Given the description of an element on the screen output the (x, y) to click on. 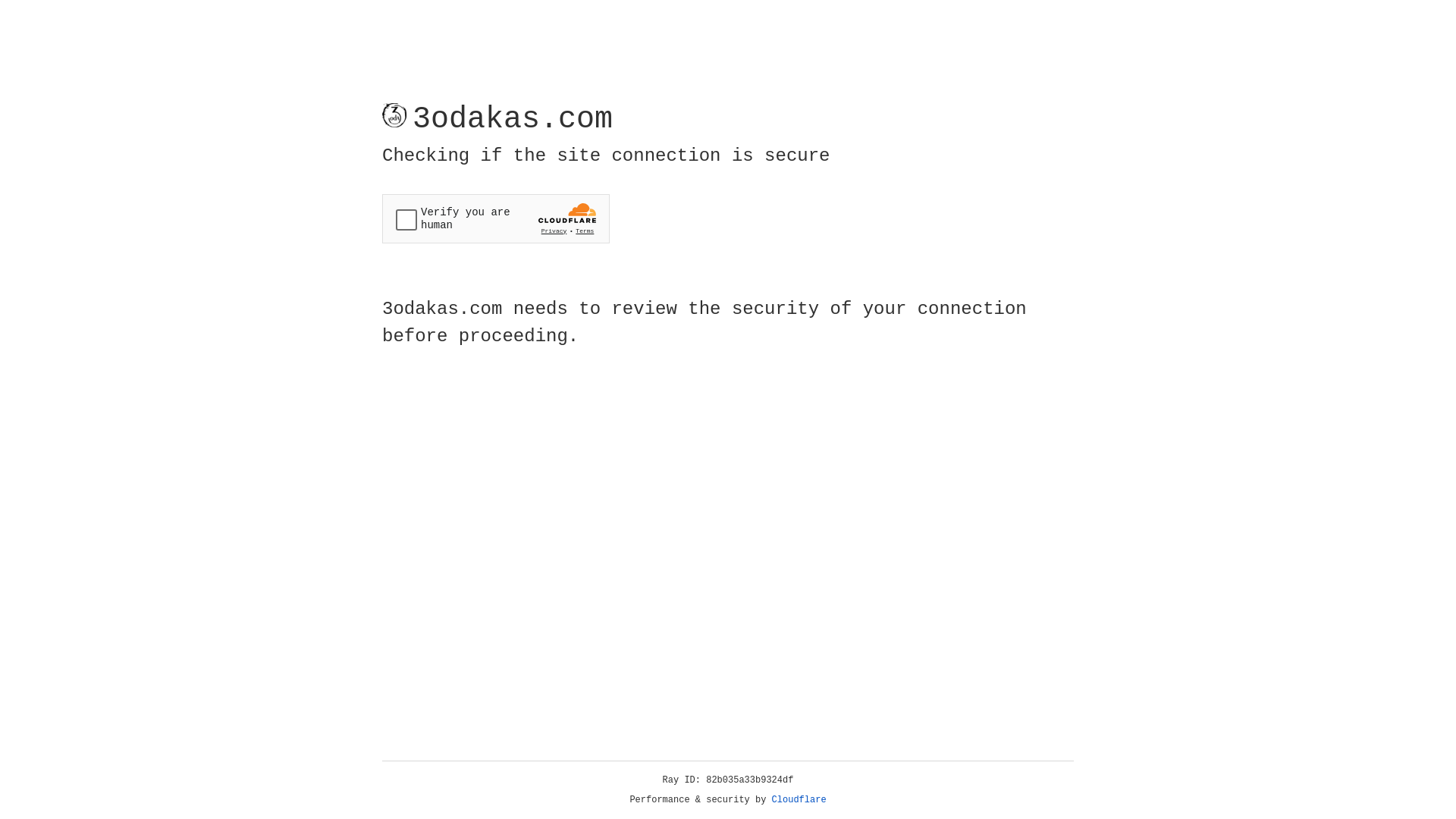
Cloudflare Element type: text (798, 799)
Widget containing a Cloudflare security challenge Element type: hover (495, 218)
